Given the description of an element on the screen output the (x, y) to click on. 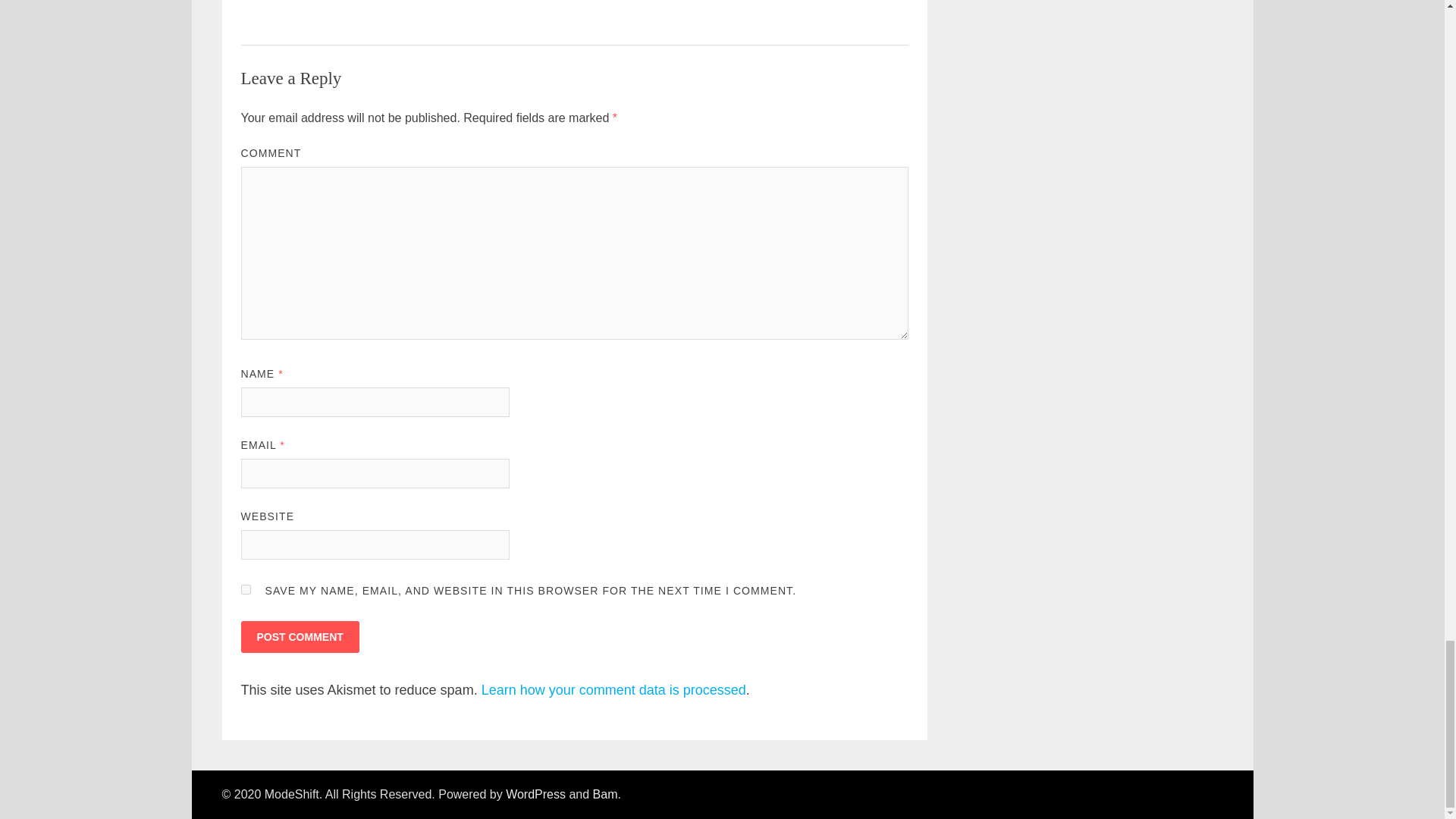
Learn how your comment data is processed (613, 689)
Post Comment (300, 636)
yes (245, 589)
Post Comment (300, 636)
